Given the description of an element on the screen output the (x, y) to click on. 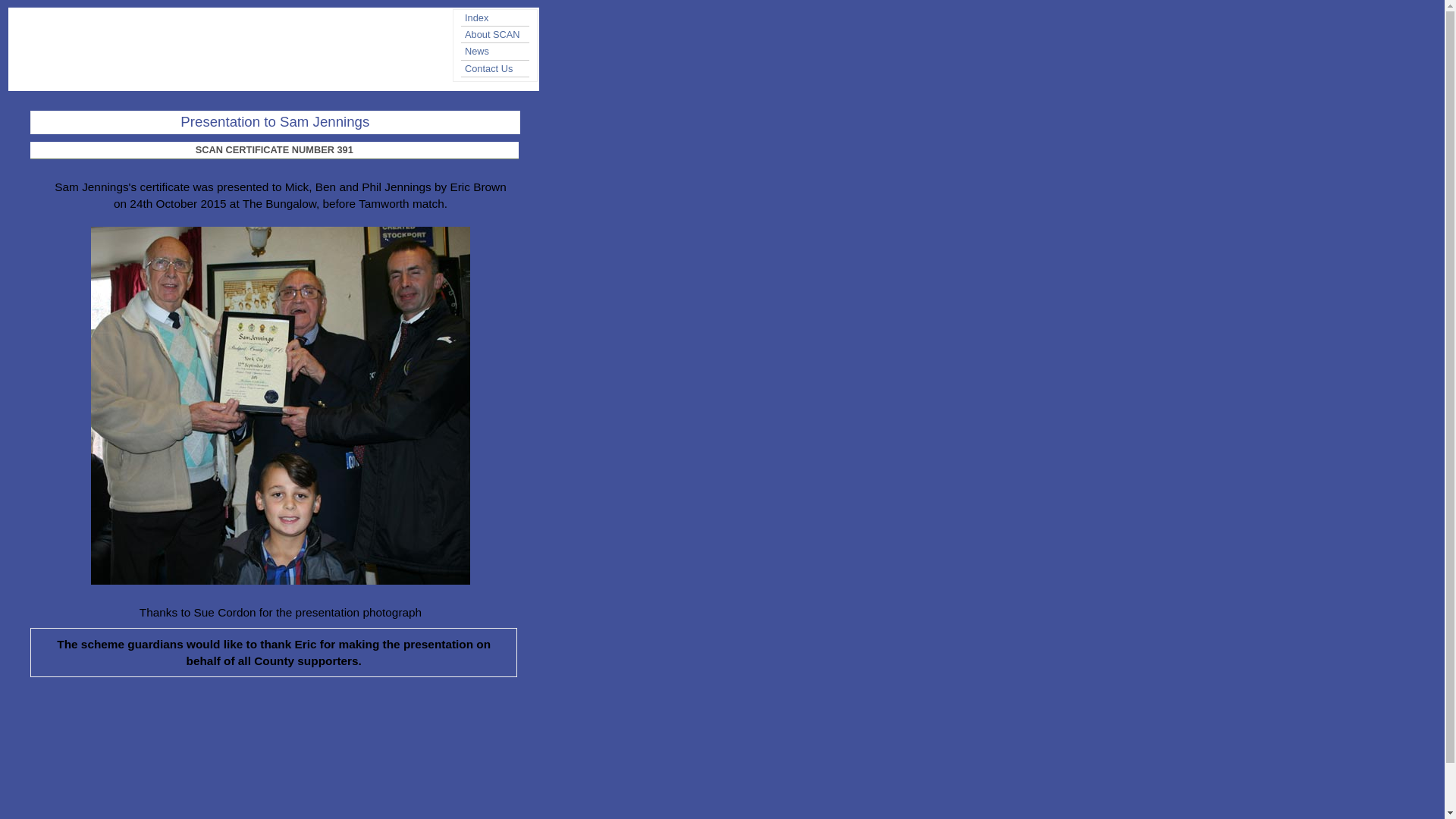
Contact Us (500, 68)
Index (500, 17)
About SCAN (500, 34)
News (500, 50)
